Given the description of an element on the screen output the (x, y) to click on. 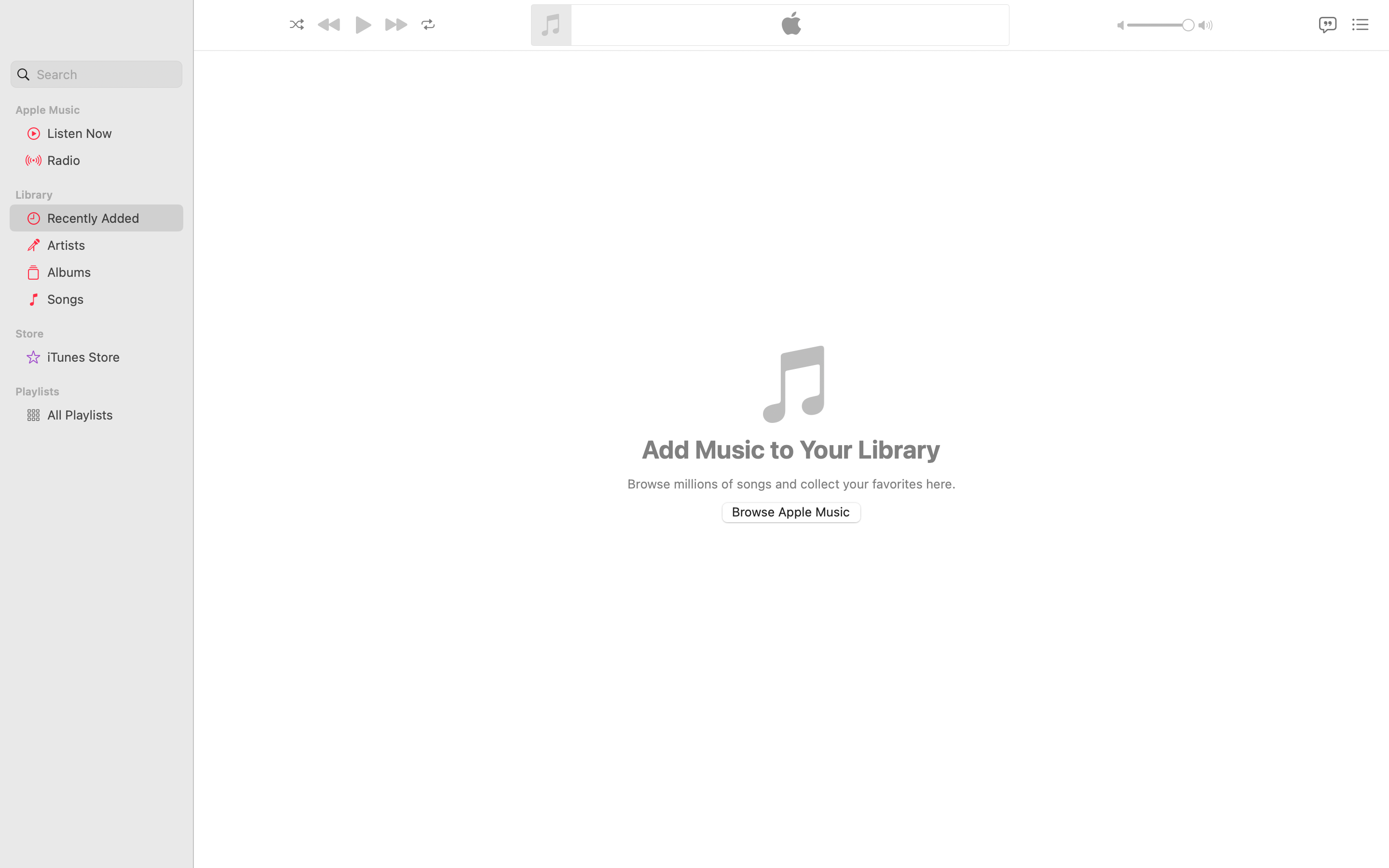
Listen Now Element type: AXStaticText (111, 132)
